Given the description of an element on the screen output the (x, y) to click on. 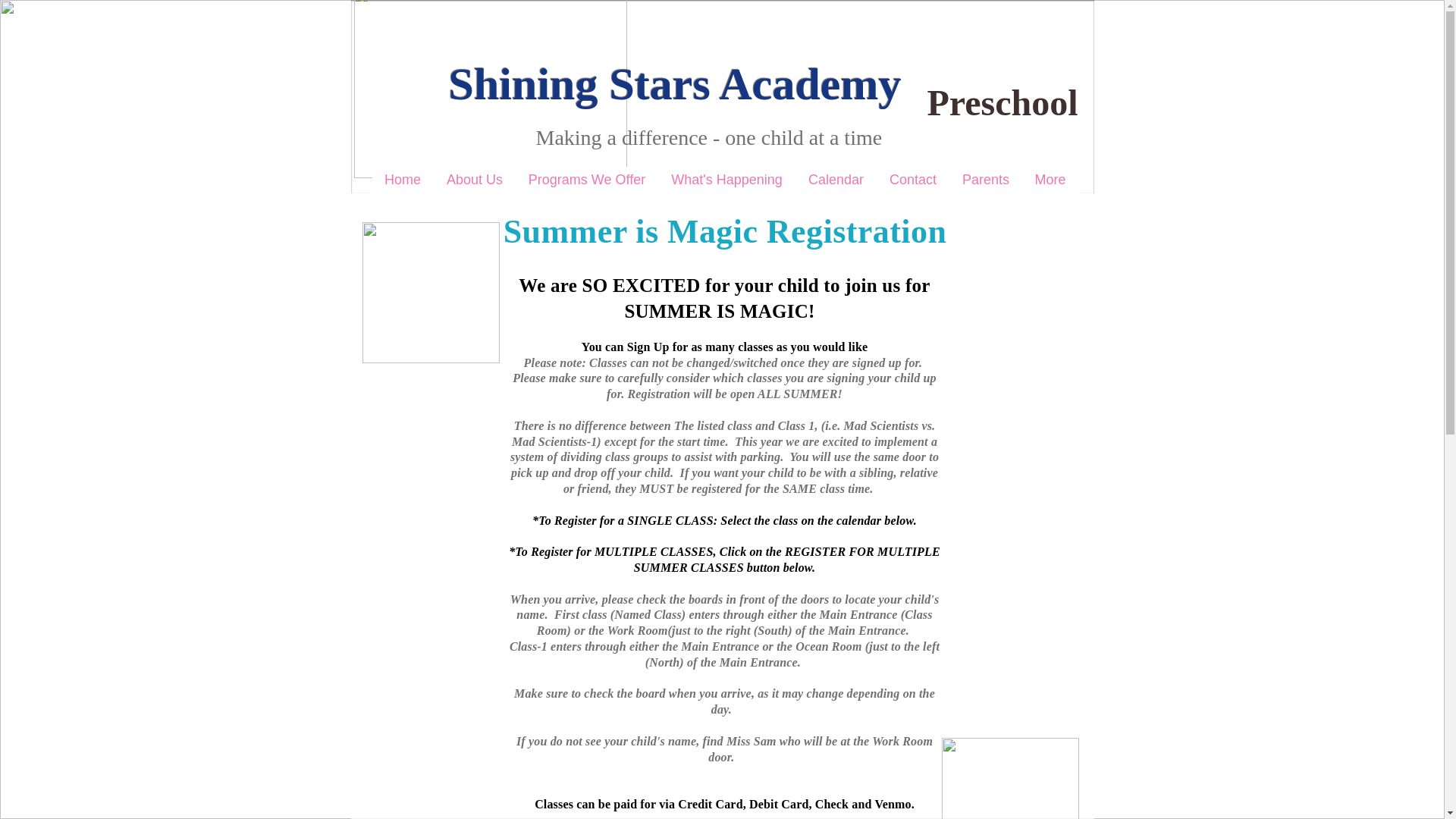
Programs We Offer (586, 180)
What's Happening (726, 180)
About Us (474, 180)
Parents (985, 180)
Home (401, 180)
Calendar (835, 180)
Contact (912, 180)
